Given the description of an element on the screen output the (x, y) to click on. 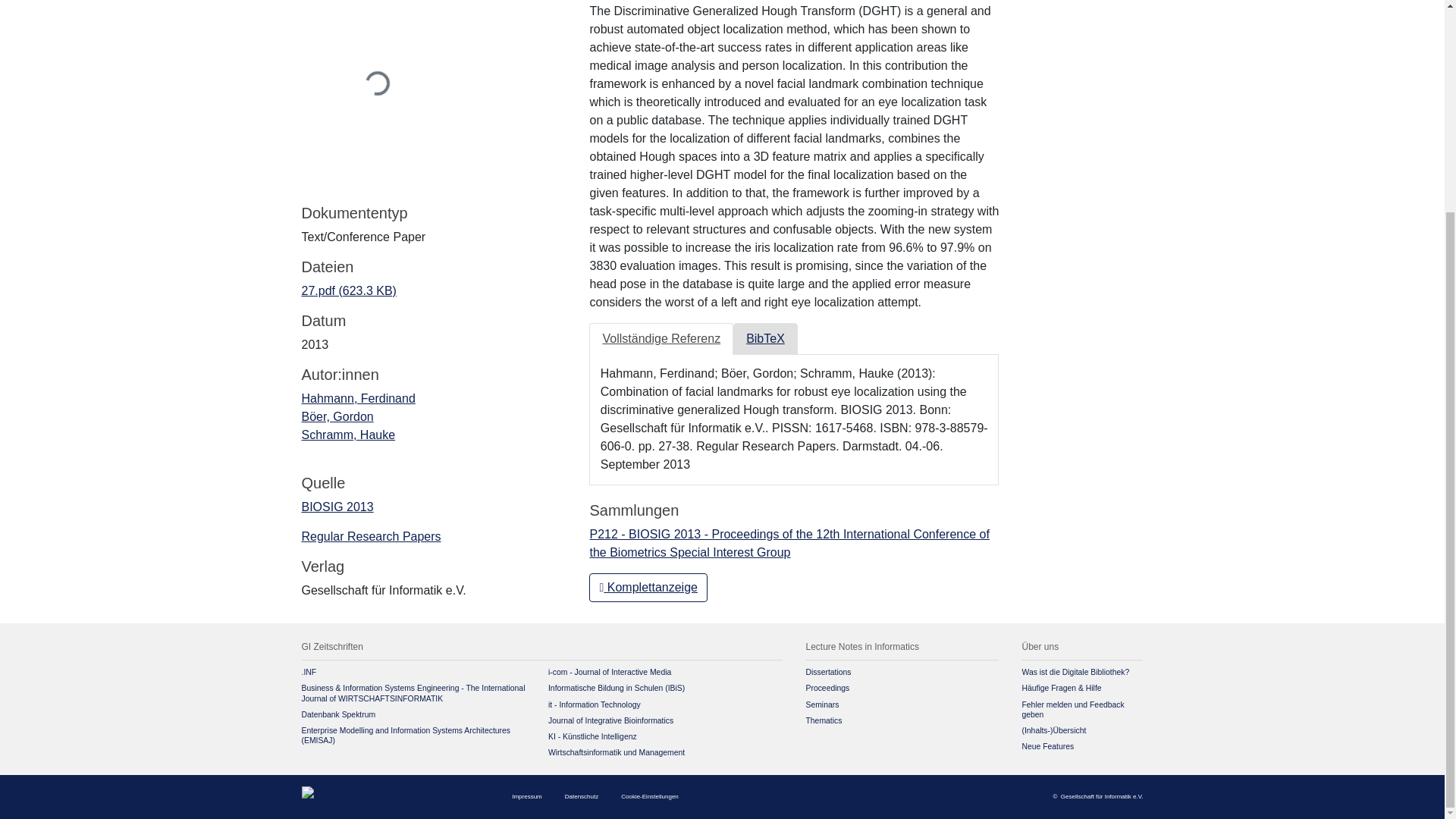
Dissertations (827, 672)
Komplettanzeige (647, 587)
Schramm, Hauke (348, 434)
Regular Research Papers (371, 535)
Seminars (821, 705)
Datenbank Spektrum (338, 714)
Wirtschaftsinformatik und Management (616, 752)
Proceedings (826, 687)
i-com - Journal of Interactive Media (609, 672)
Hahmann, Ferdinand (357, 398)
BIOSIG 2013 (337, 506)
.INF (309, 672)
Thematics (823, 720)
Journal of Integrative Bioinformatics (610, 720)
